Given the description of an element on the screen output the (x, y) to click on. 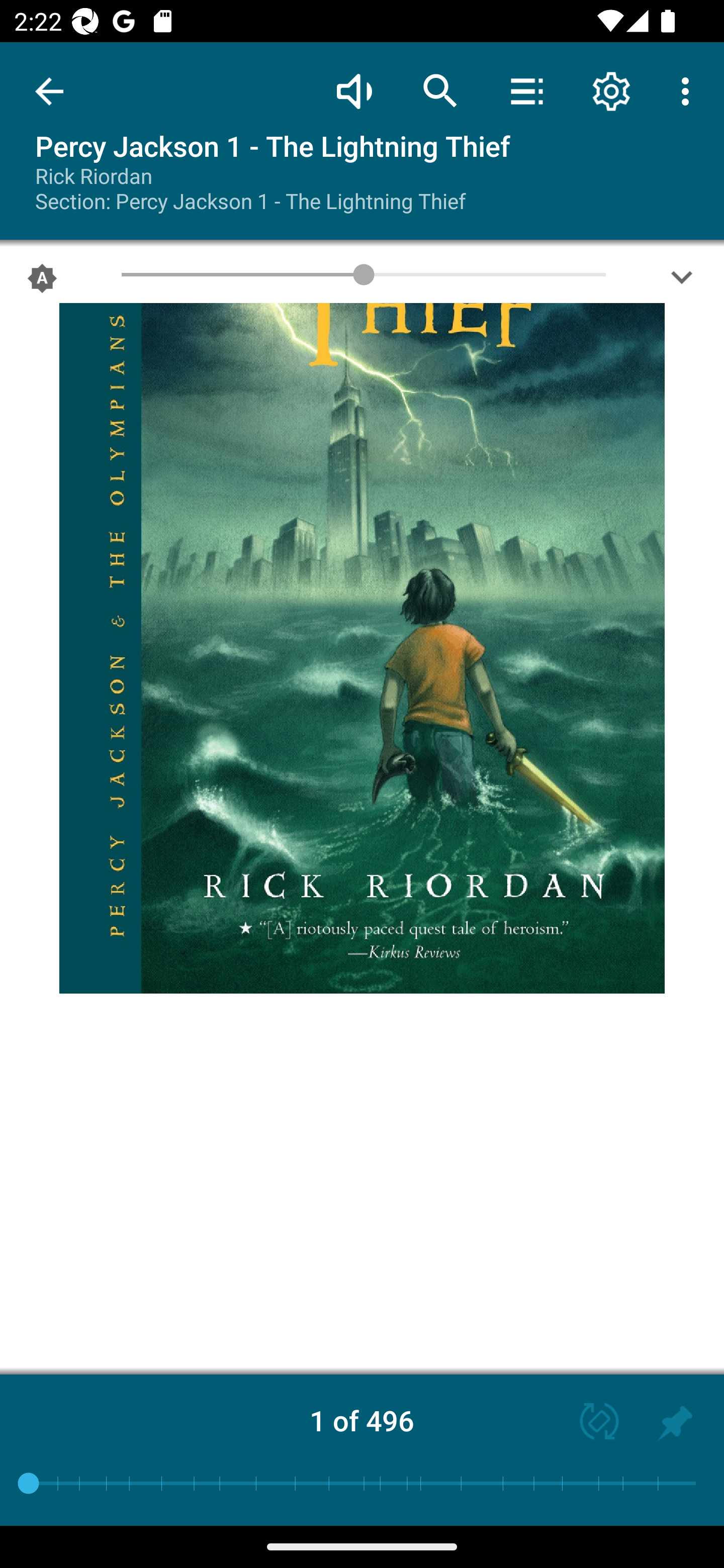
Exit reading (49, 91)
Read aloud (354, 90)
Text search (440, 90)
Contents / Bookmarks / Quotes (526, 90)
Reading settings (611, 90)
More options (688, 90)
Selected screen brightness (42, 281)
Screen brightness settings (681, 281)
1 of 496 (361, 1420)
Screen orientation (590, 1423)
Add to history (674, 1423)
